Given the description of an element on the screen output the (x, y) to click on. 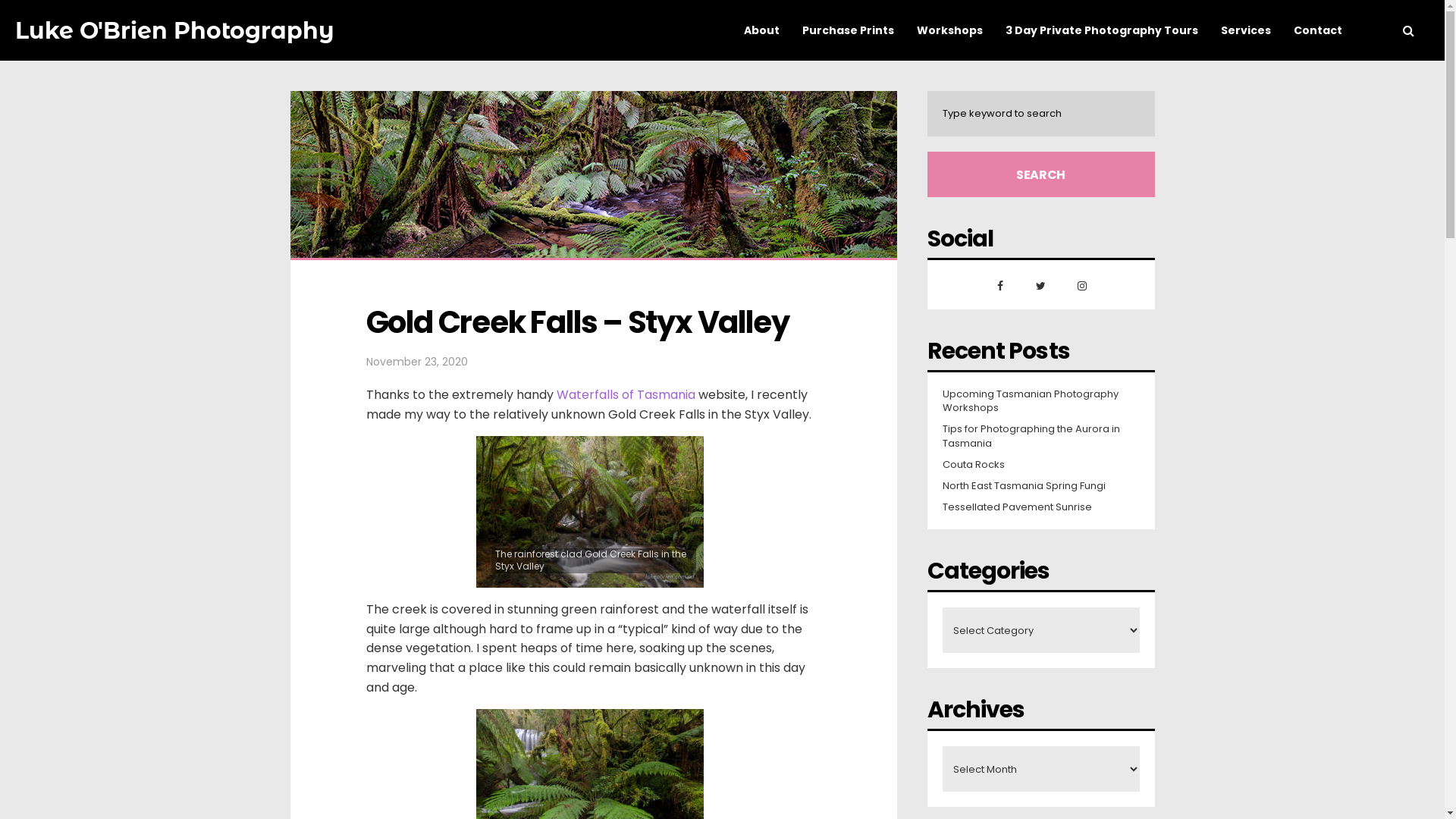
Search Element type: text (1040, 174)
Upcoming Tasmanian Photography Workshops Element type: text (1040, 400)
Luke O'Brien Photography Element type: text (174, 30)
Waterfalls of Tasmania Element type: text (625, 394)
North East Tasmania Spring Fungi Element type: text (1022, 485)
Couta Rocks Element type: text (972, 464)
Tessellated Pavement Sunrise Element type: text (1016, 507)
Tips for Photographing the Aurora in Tasmania Element type: text (1040, 435)
